Given the description of an element on the screen output the (x, y) to click on. 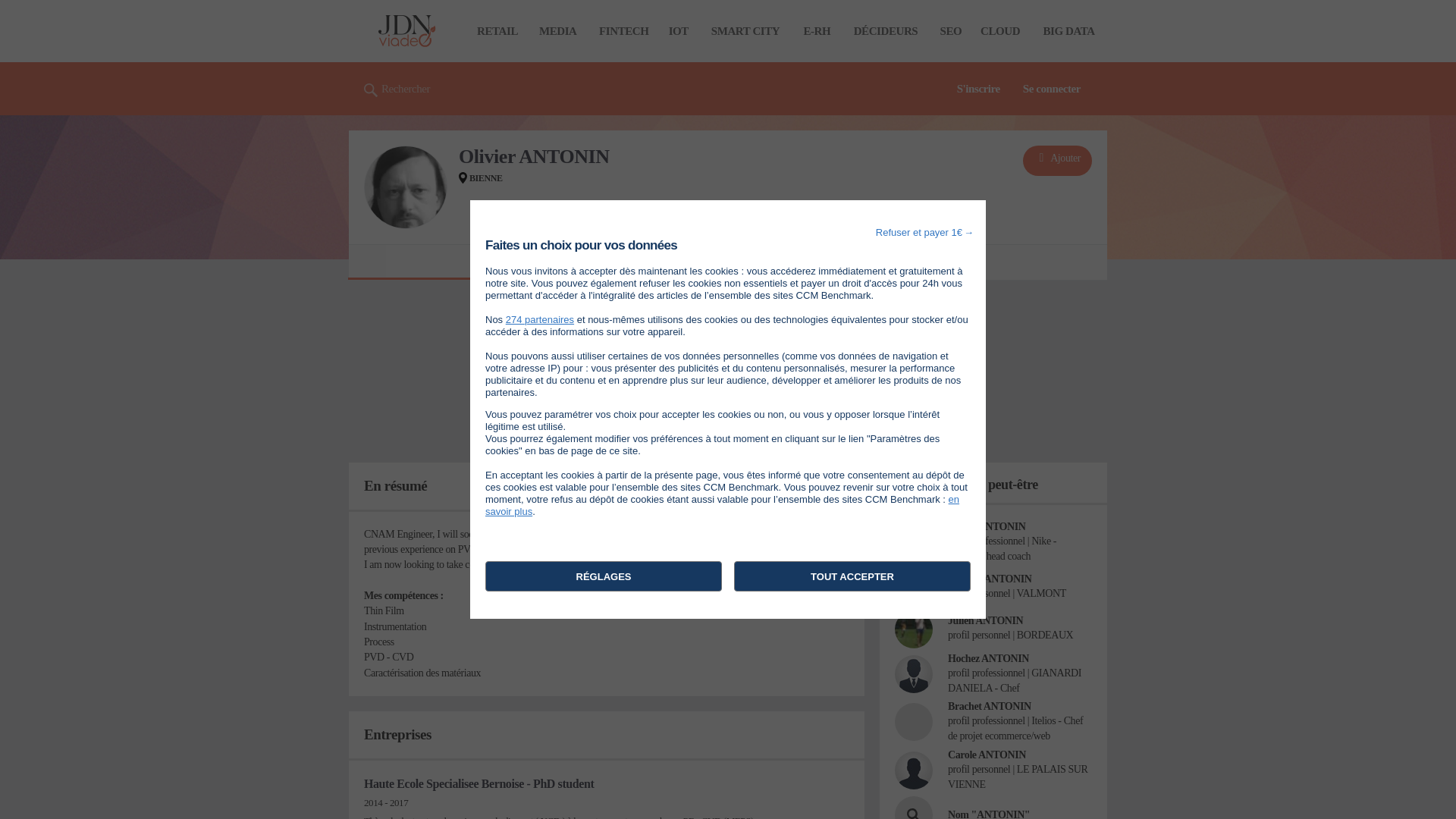
BIG DATA (1068, 30)
Carole ANTONIN (986, 754)
Ajouter (1057, 160)
RETAIL (496, 30)
Nom ANTONIN (914, 807)
E-RH (817, 30)
PROFIL (533, 262)
Rechercher (396, 88)
IOT (678, 30)
Hochez ANTONIN (988, 658)
Deiller ANTONIN (986, 526)
FINTECH (623, 30)
MEDIA (557, 30)
SMART CITY (744, 30)
Nom ANTONIN (988, 814)
